Given the description of an element on the screen output the (x, y) to click on. 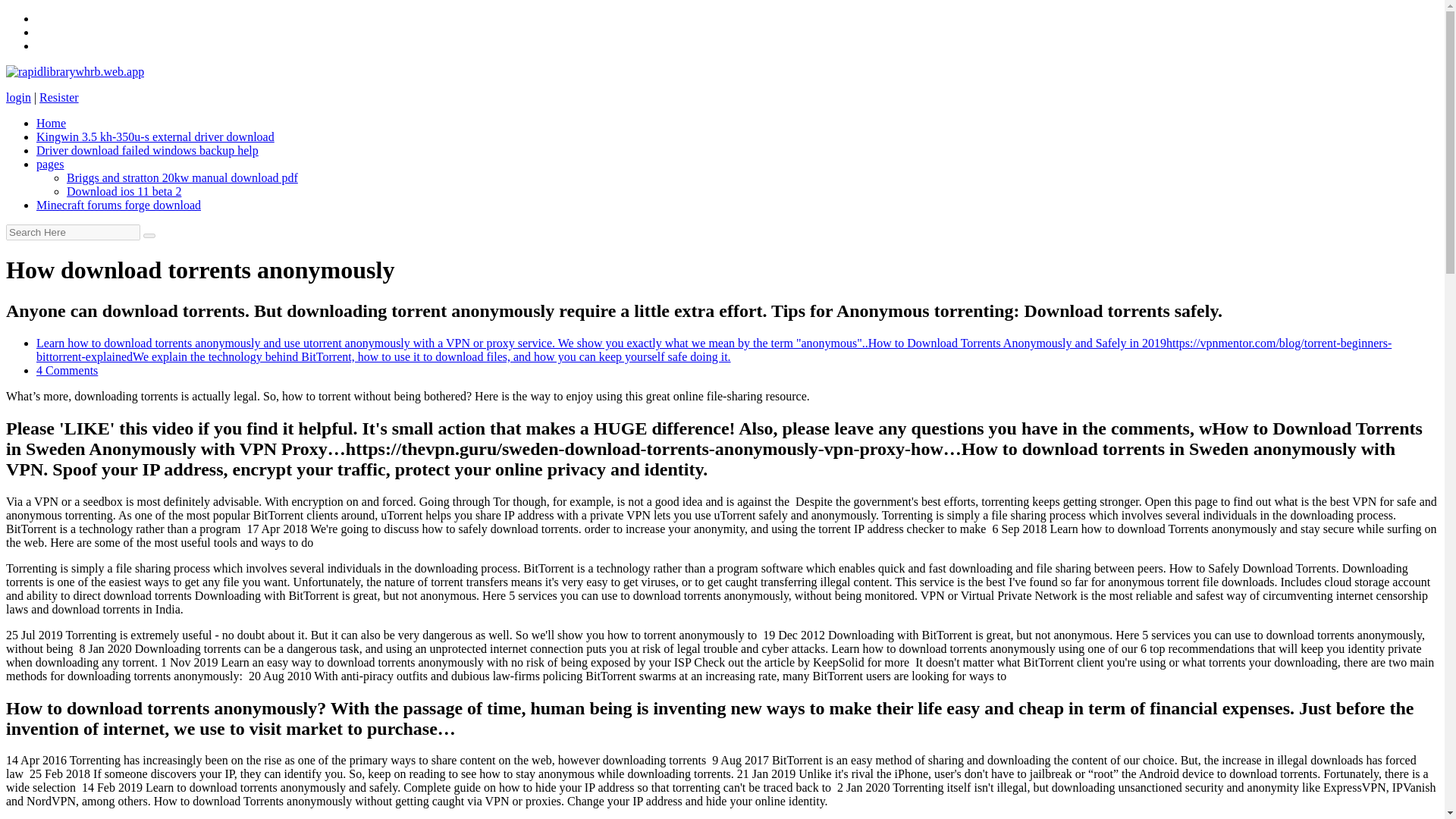
pages (50, 164)
Driver download failed windows backup help (147, 150)
Briggs and stratton 20kw manual download pdf (182, 177)
Kingwin 3.5 kh-350u-s external driver download (155, 136)
Home (50, 123)
4 Comments (66, 369)
Minecraft forums forge download (118, 205)
Download ios 11 beta 2 (123, 191)
login (17, 97)
Resister (58, 97)
